Given the description of an element on the screen output the (x, y) to click on. 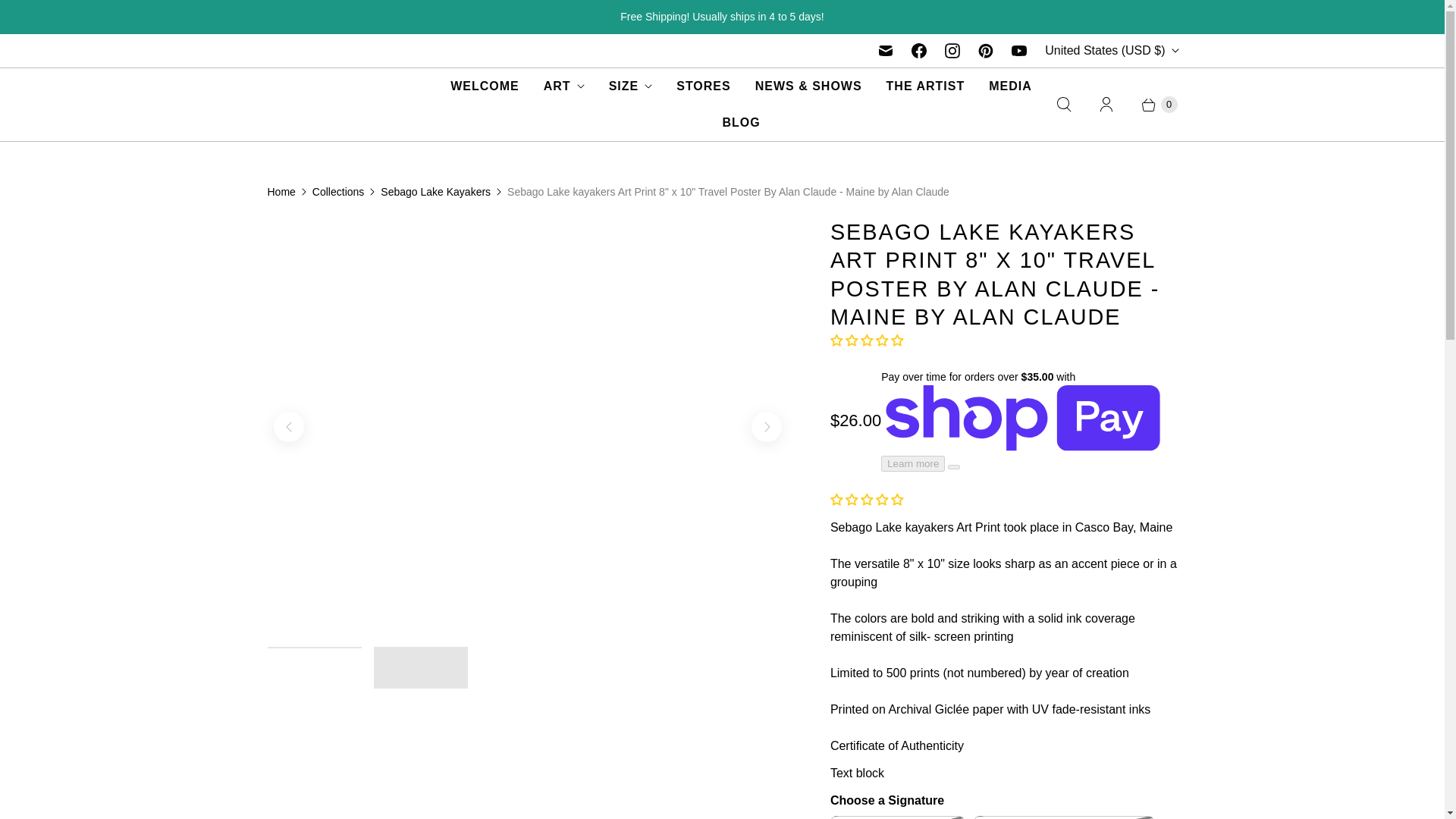
WELCOME (484, 85)
